Given the description of an element on the screen output the (x, y) to click on. 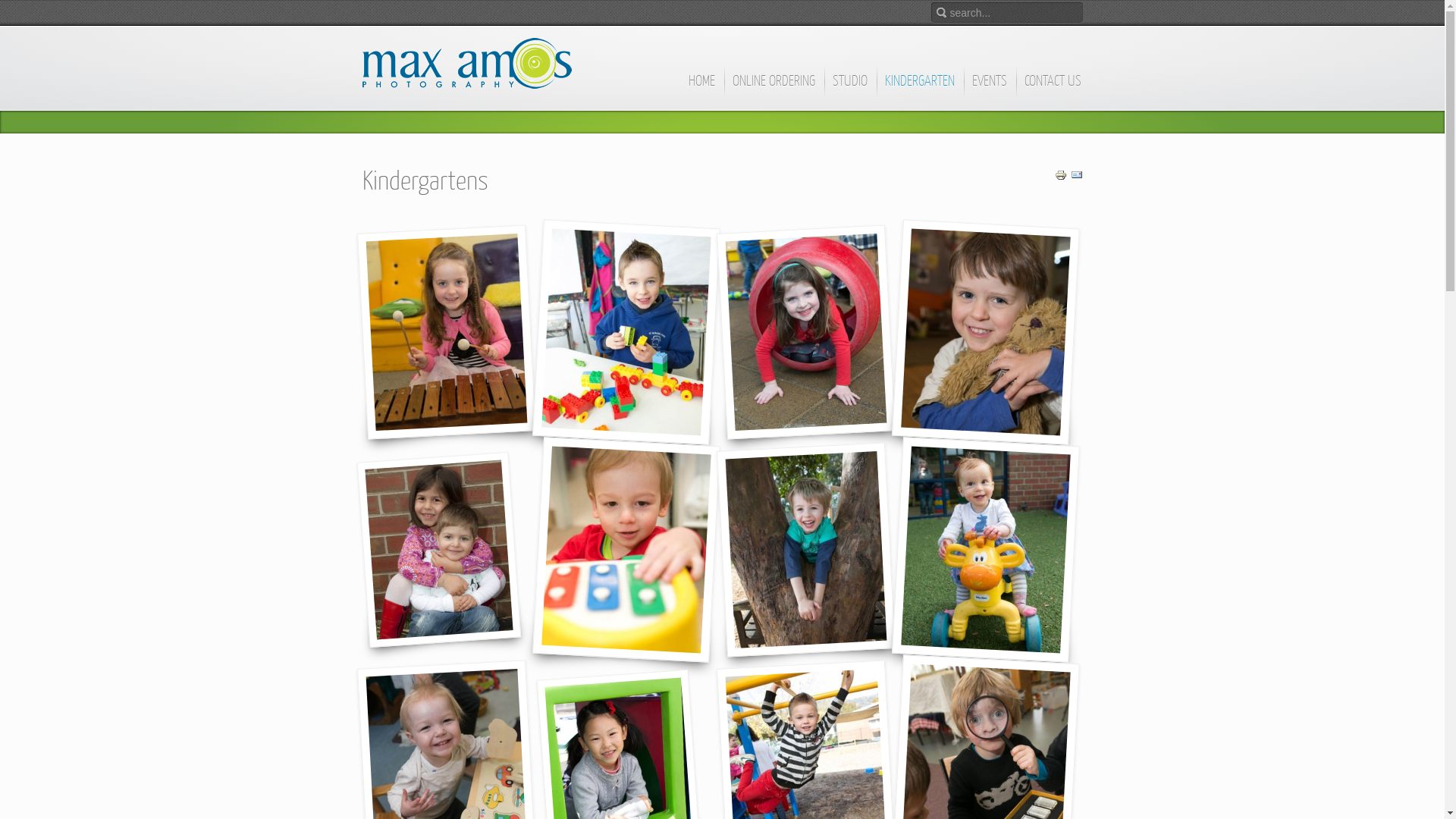
KINDERGARTEN Element type: text (919, 87)
EVENTS Element type: text (989, 87)
STUDIO Element type: text (849, 87)
ONLINE ORDERING Element type: text (773, 87)
Email Element type: hover (1076, 177)
Reset Element type: text (3, 3)
HOME Element type: text (701, 87)
Print Element type: hover (1060, 177)
CONTACT US Element type: text (1053, 87)
